Given the description of an element on the screen output the (x, y) to click on. 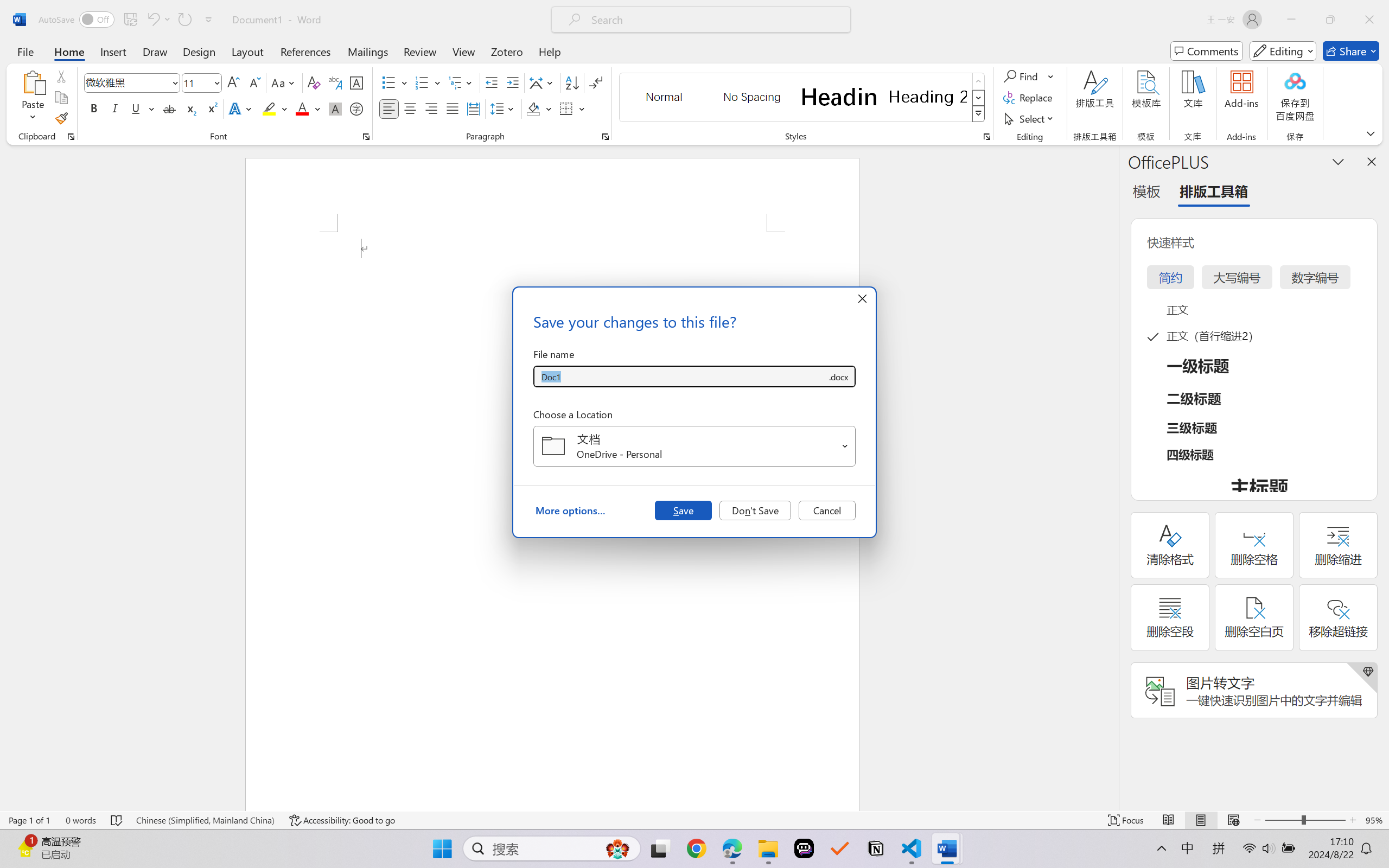
Convert with Options... (259, 74)
Mark All as Read (319, 62)
Simplified (242, 46)
Slide Master (56, 29)
Slide Name Card Layout: used by no slides (115, 397)
Freeform 11 (535, 386)
